Given the description of an element on the screen output the (x, y) to click on. 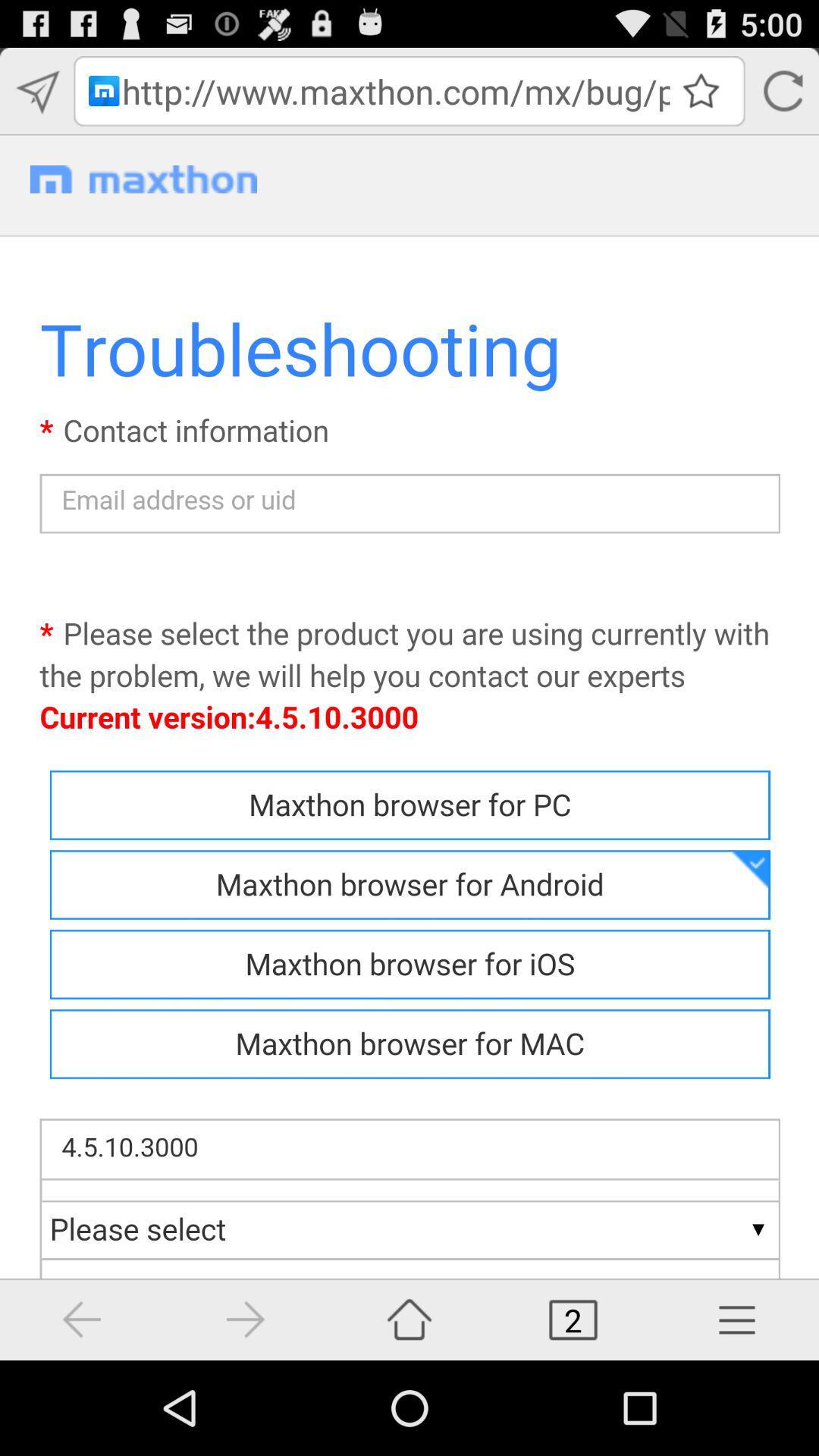
troubleshoot page (409, 747)
